Given the description of an element on the screen output the (x, y) to click on. 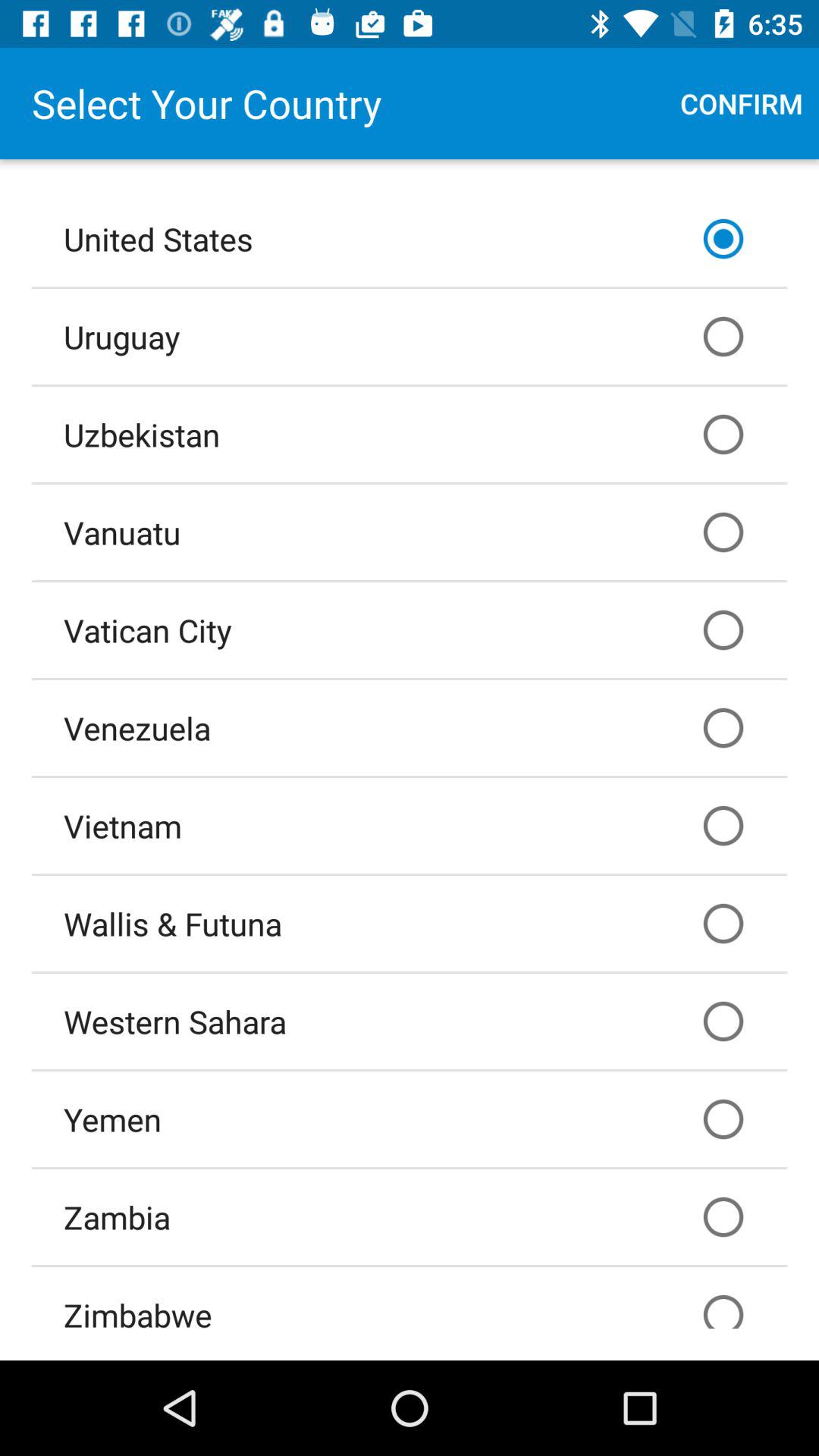
turn on item at the top right corner (741, 103)
